Given the description of an element on the screen output the (x, y) to click on. 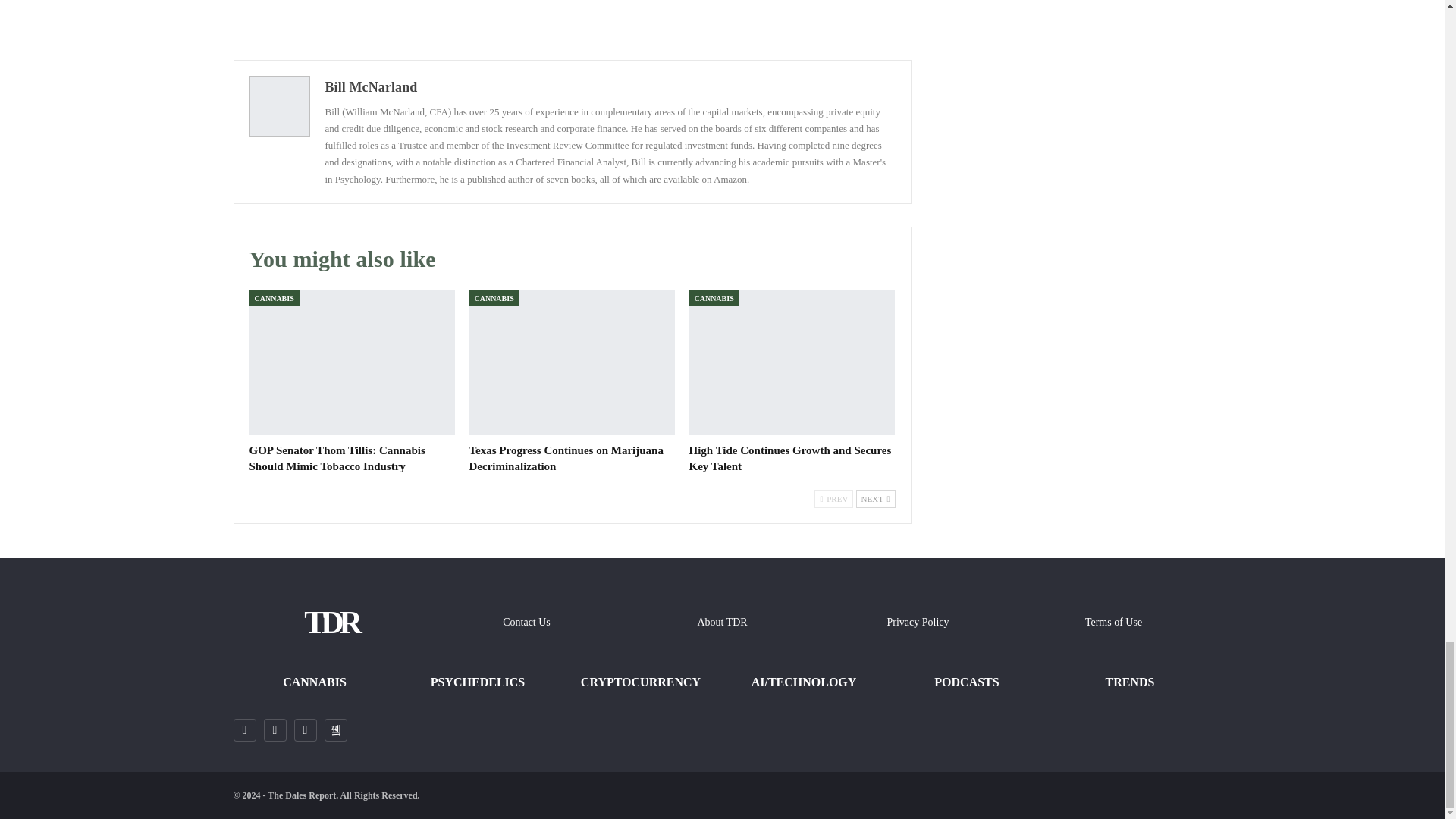
Texas Progress Continues on Marijuana Decriminalization (565, 458)
Previous (833, 498)
Texas Progress Continues on Marijuana Decriminalization (571, 362)
Next (875, 498)
